Given the description of an element on the screen output the (x, y) to click on. 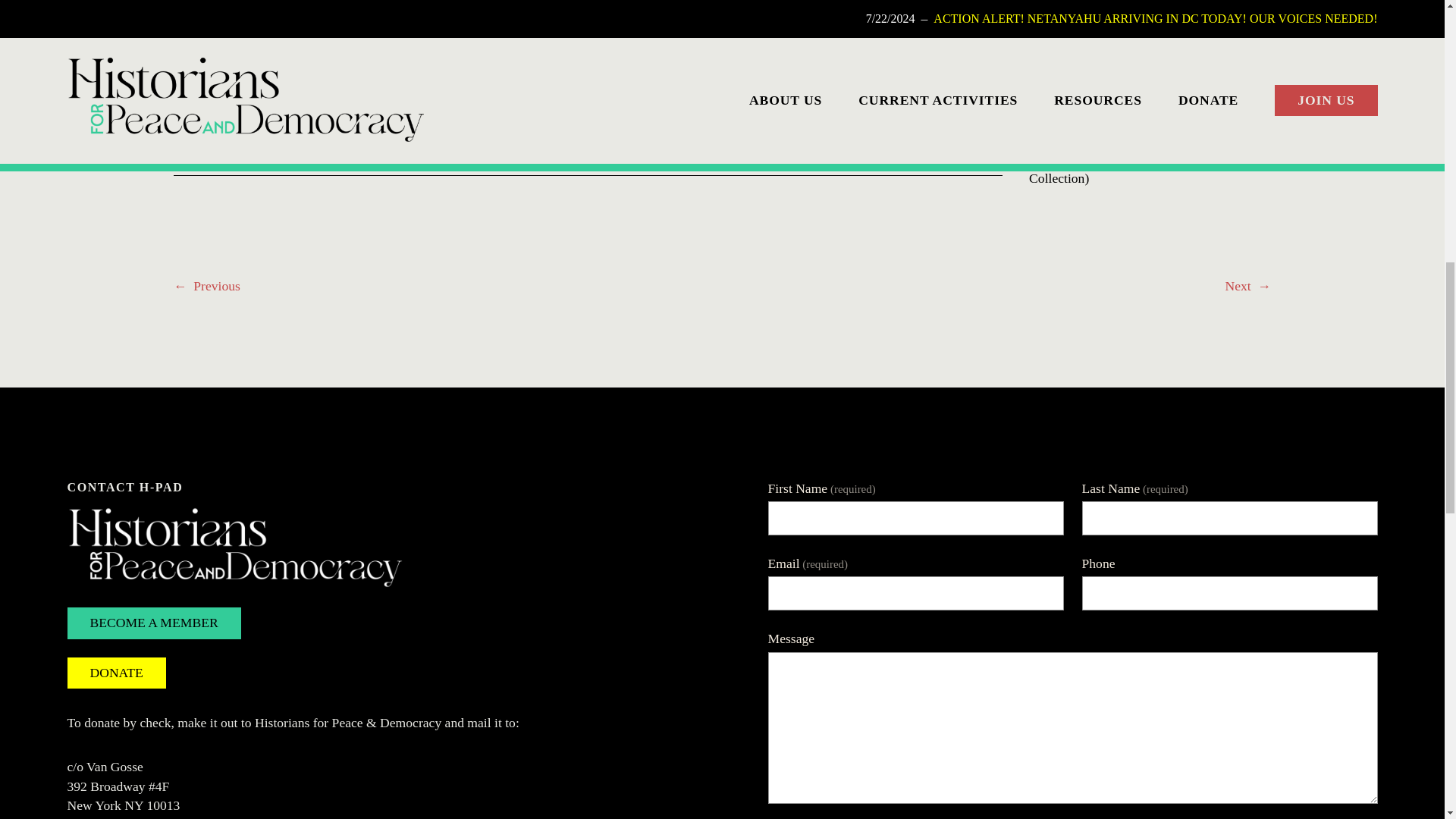
Previous (216, 285)
DONATE (115, 673)
BECOME A MEMBER (153, 623)
Next (1237, 285)
